Given the description of an element on the screen output the (x, y) to click on. 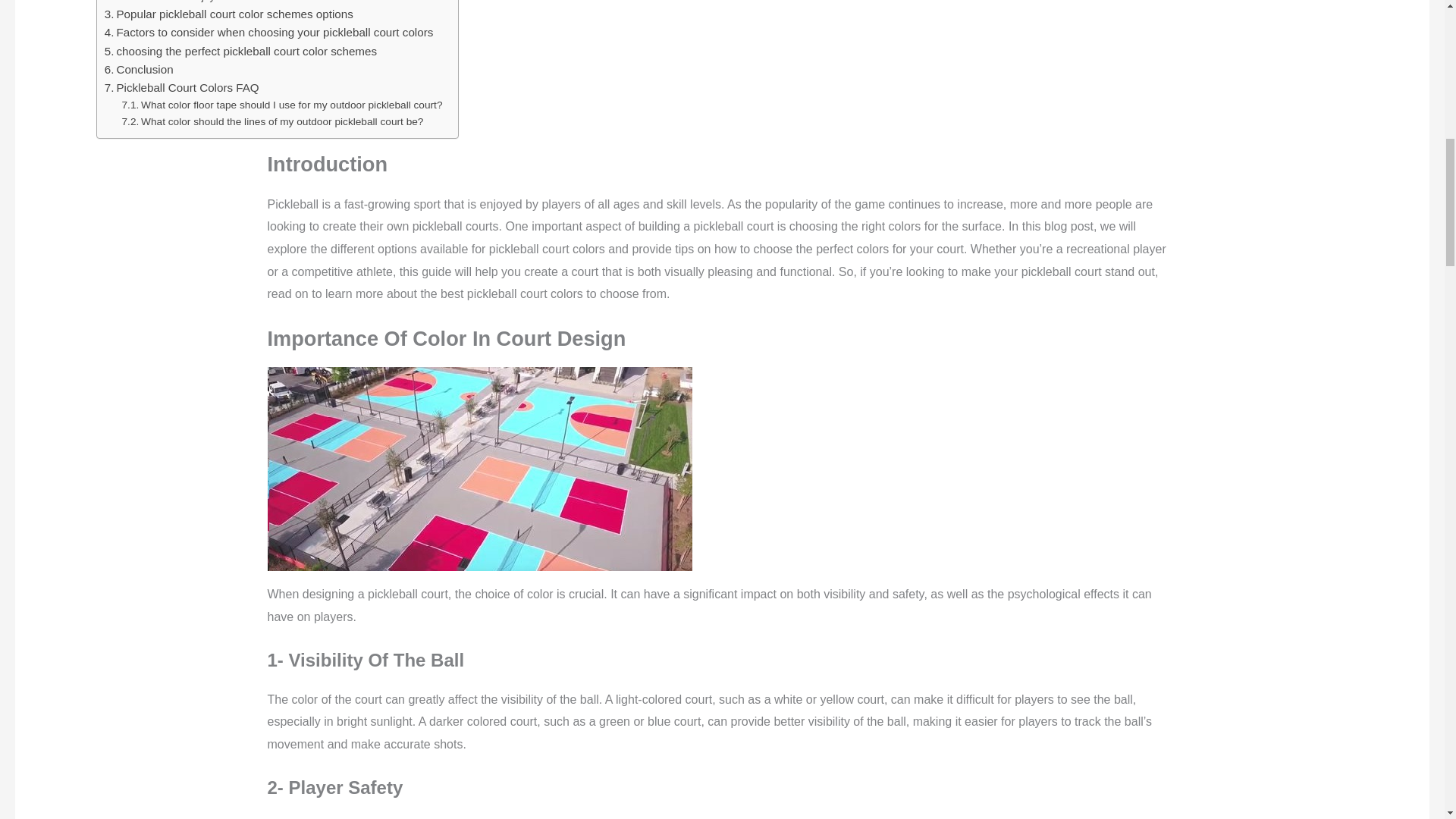
Pickleball Court Colors FAQ (181, 87)
3- Overall Enjoyment of the Game (210, 2)
Pickleball Court Colors FAQ (181, 87)
Conclusion (138, 69)
choosing the perfect pickleball court color schemes (240, 51)
3- Overall Enjoyment of the Game (210, 2)
Popular pickleball court color schemes options (228, 13)
choosing the perfect pickleball court color schemes (240, 51)
Conclusion (138, 69)
